Given the description of an element on the screen output the (x, y) to click on. 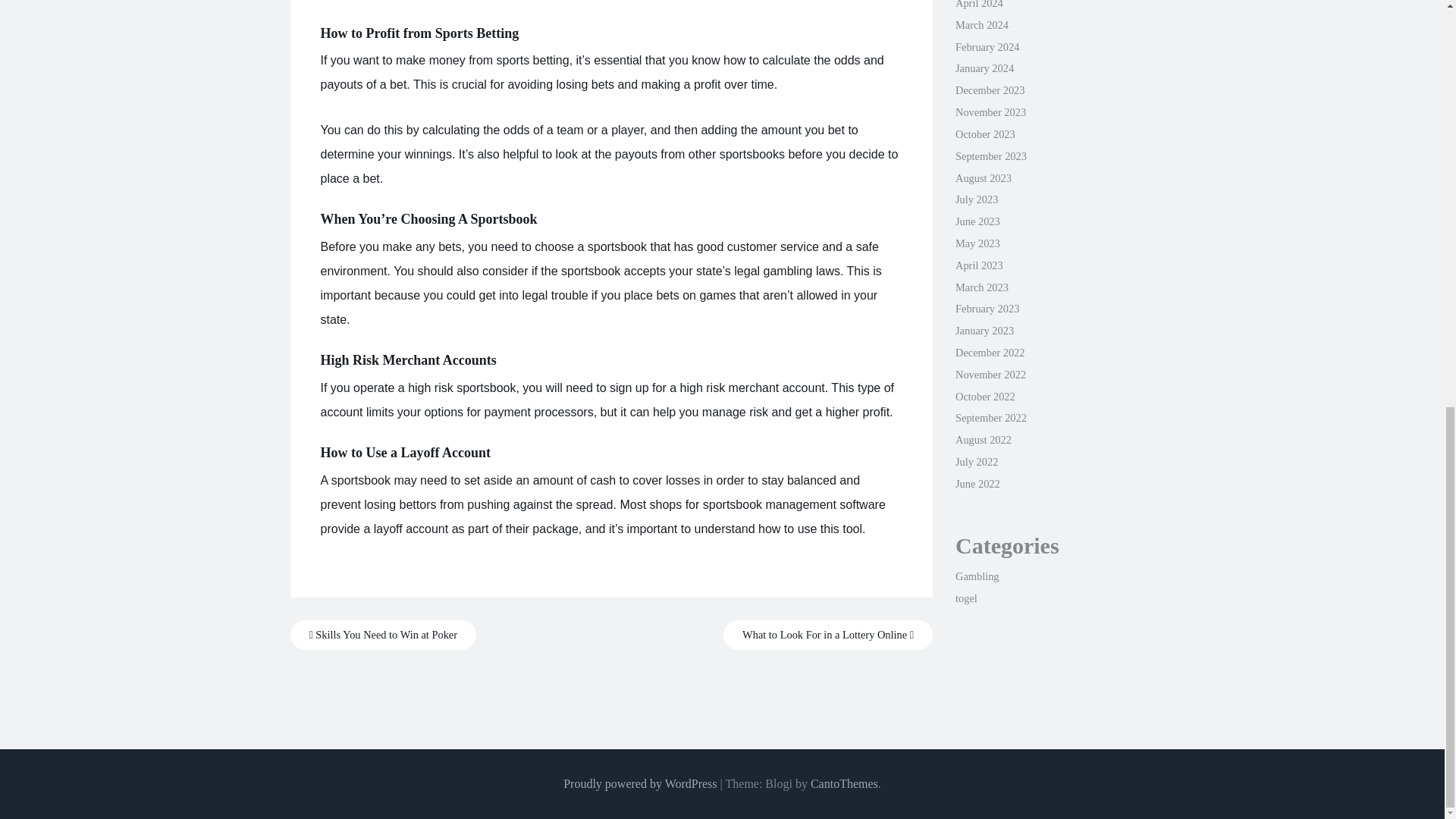
November 2022 (990, 374)
January 2024 (984, 68)
April 2024 (979, 4)
January 2023 (984, 330)
October 2022 (984, 396)
July 2023 (976, 199)
November 2023 (990, 111)
September 2023 (990, 155)
May 2023 (977, 243)
March 2023 (982, 287)
